Given the description of an element on the screen output the (x, y) to click on. 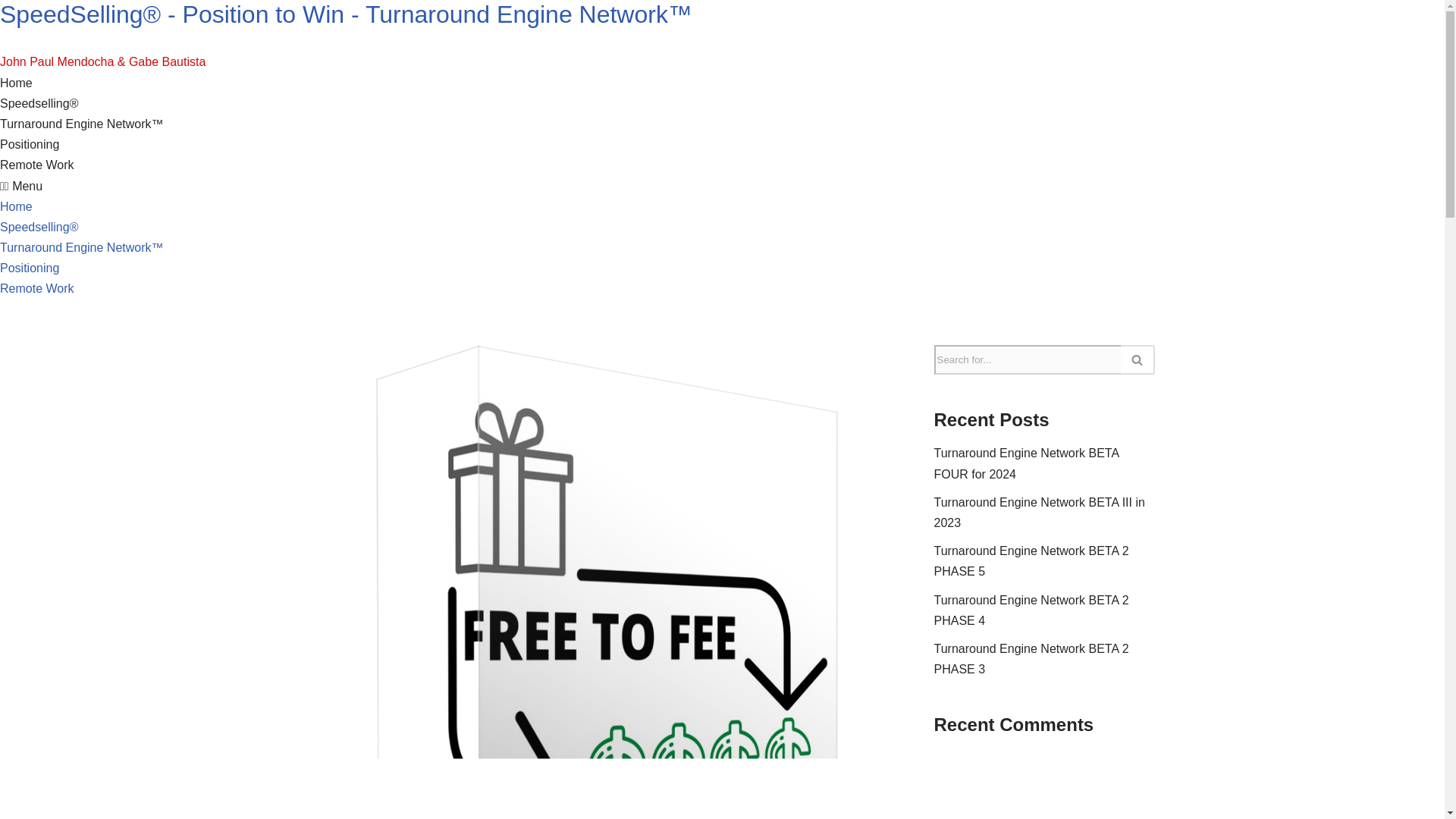
Home (16, 205)
Turnaround Engine Network BETA 2 PHASE 3 (1031, 658)
Remote Work (37, 164)
Positioning (29, 267)
Skip to content (11, 31)
Turnaround Engine Network BETA FOUR for 2024 (1026, 462)
Home (16, 82)
Positioning (29, 144)
Remote Work (37, 287)
Turnaround Engine Network BETA III in 2023 (1039, 512)
